Given the description of an element on the screen output the (x, y) to click on. 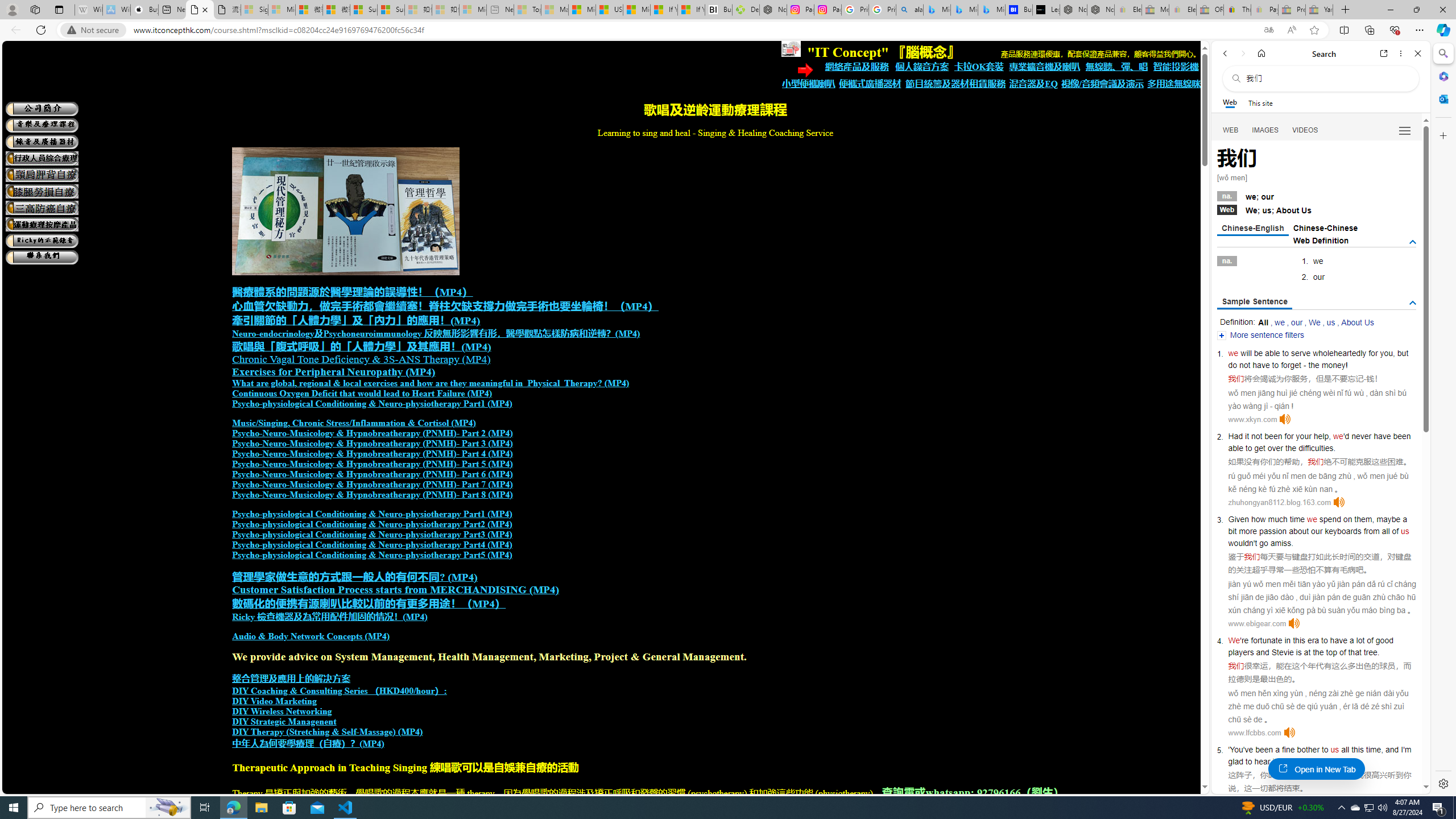
AutomationID: tgdef (1412, 241)
Press Room - eBay Inc. - Sleeping (1292, 9)
the (1290, 447)
Us (1306, 209)
IMAGES (1265, 130)
Descarga Driver Updater (746, 9)
from (1371, 530)
era (1313, 640)
